Given the description of an element on the screen output the (x, y) to click on. 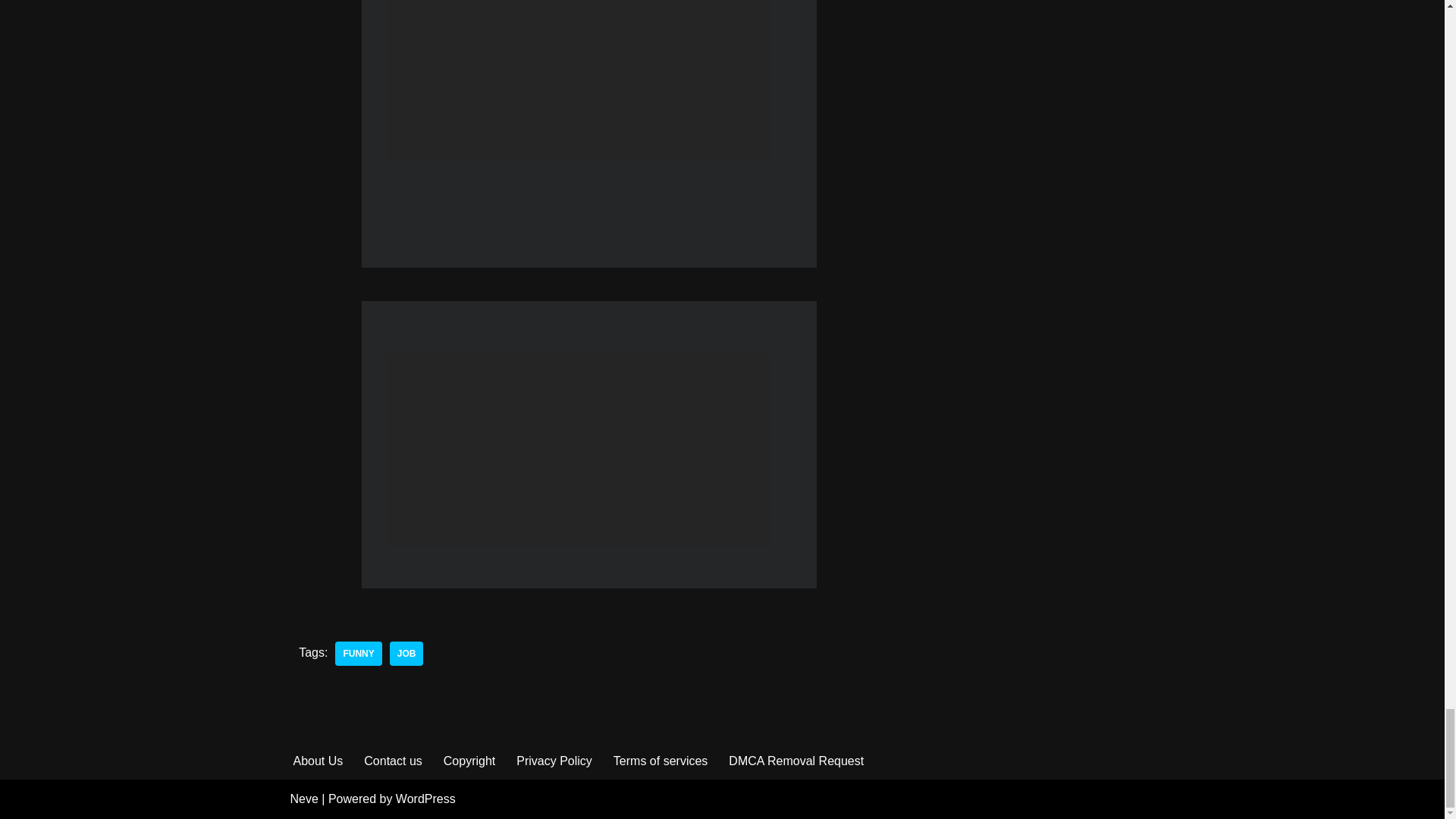
DMCA Removal Request (796, 761)
JOB (406, 653)
About Us (317, 761)
Job (406, 653)
funny (357, 653)
Neve (303, 798)
WordPress (425, 798)
Terms of services (659, 761)
Copyright (469, 761)
FUNNY (357, 653)
Contact us (393, 761)
Privacy Policy (554, 761)
